Given the description of an element on the screen output the (x, y) to click on. 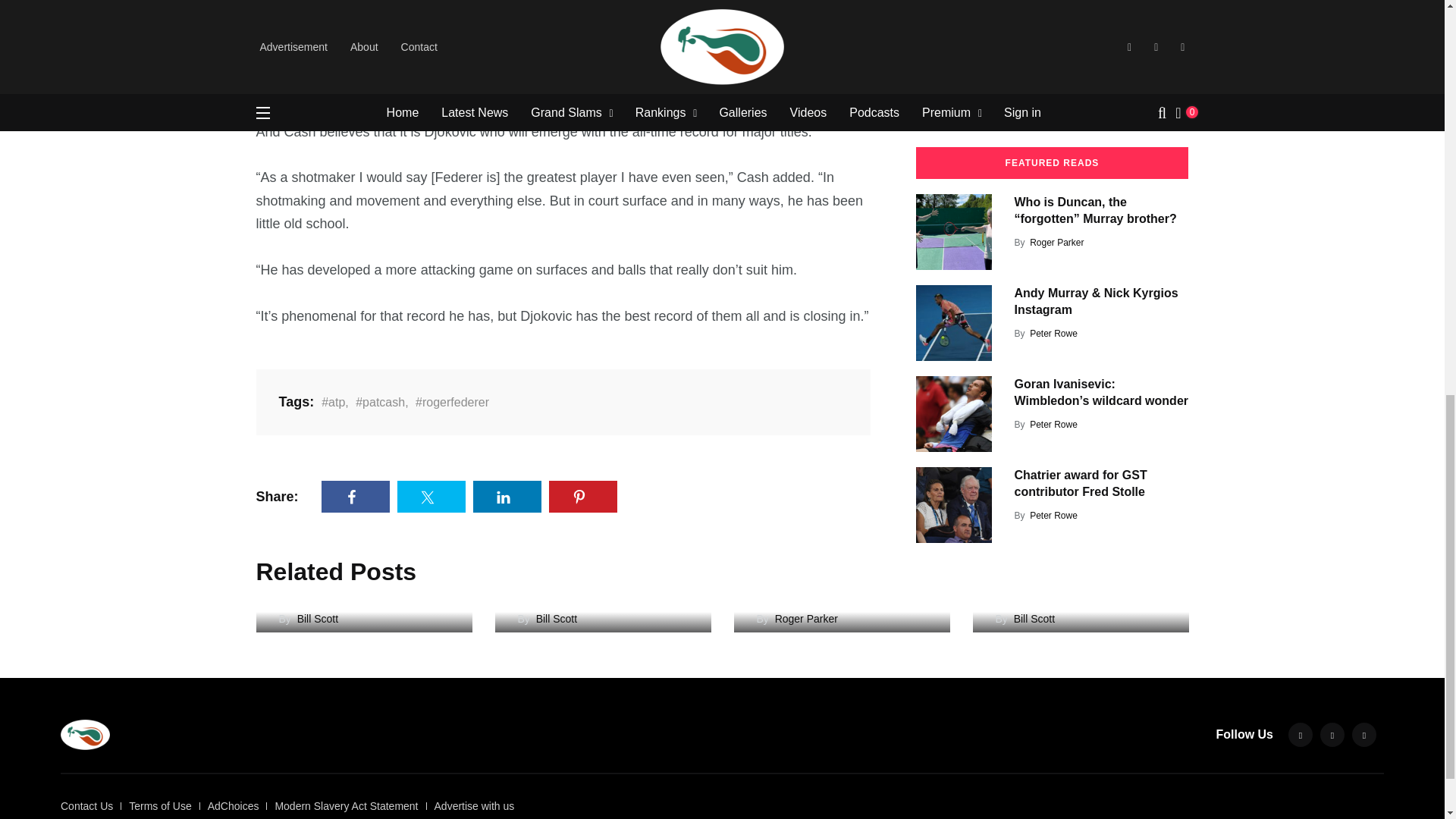
Posts by Bill Scott (1047, 5)
Share on Twitter (431, 495)
Share on Facebook (355, 495)
Share on LinkedIn (507, 495)
Share on Pinterest (582, 495)
Posts by Bill Scott (1047, 96)
